Given the description of an element on the screen output the (x, y) to click on. 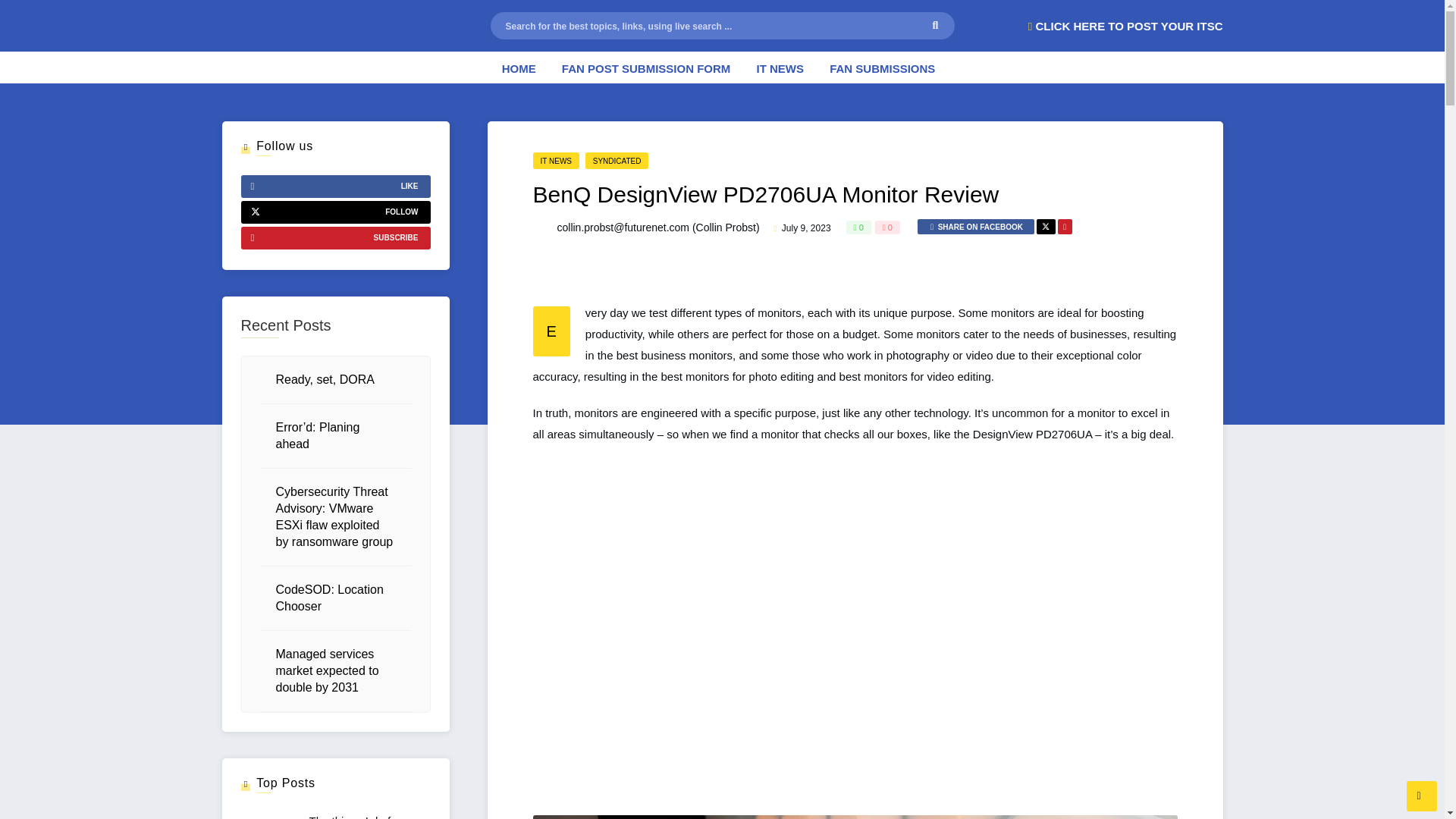
FAN POST SUBMISSION FORM (646, 66)
HOME (519, 66)
CLICK HERE TO POST YOUR ITSC (1125, 25)
FAN SUBMISSIONS (882, 66)
Ready, set, DORA (325, 379)
SUBSCRIBE (335, 237)
SYNDICATED (617, 160)
IT NEWS (555, 160)
CodeSOD: Location Chooser (330, 597)
IT NEWS (780, 66)
FOLLOW (335, 211)
Managed services market expected to double by 2031 (327, 670)
SHARE ON FACEBOOK (975, 225)
LIKE (335, 186)
